Given the description of an element on the screen output the (x, y) to click on. 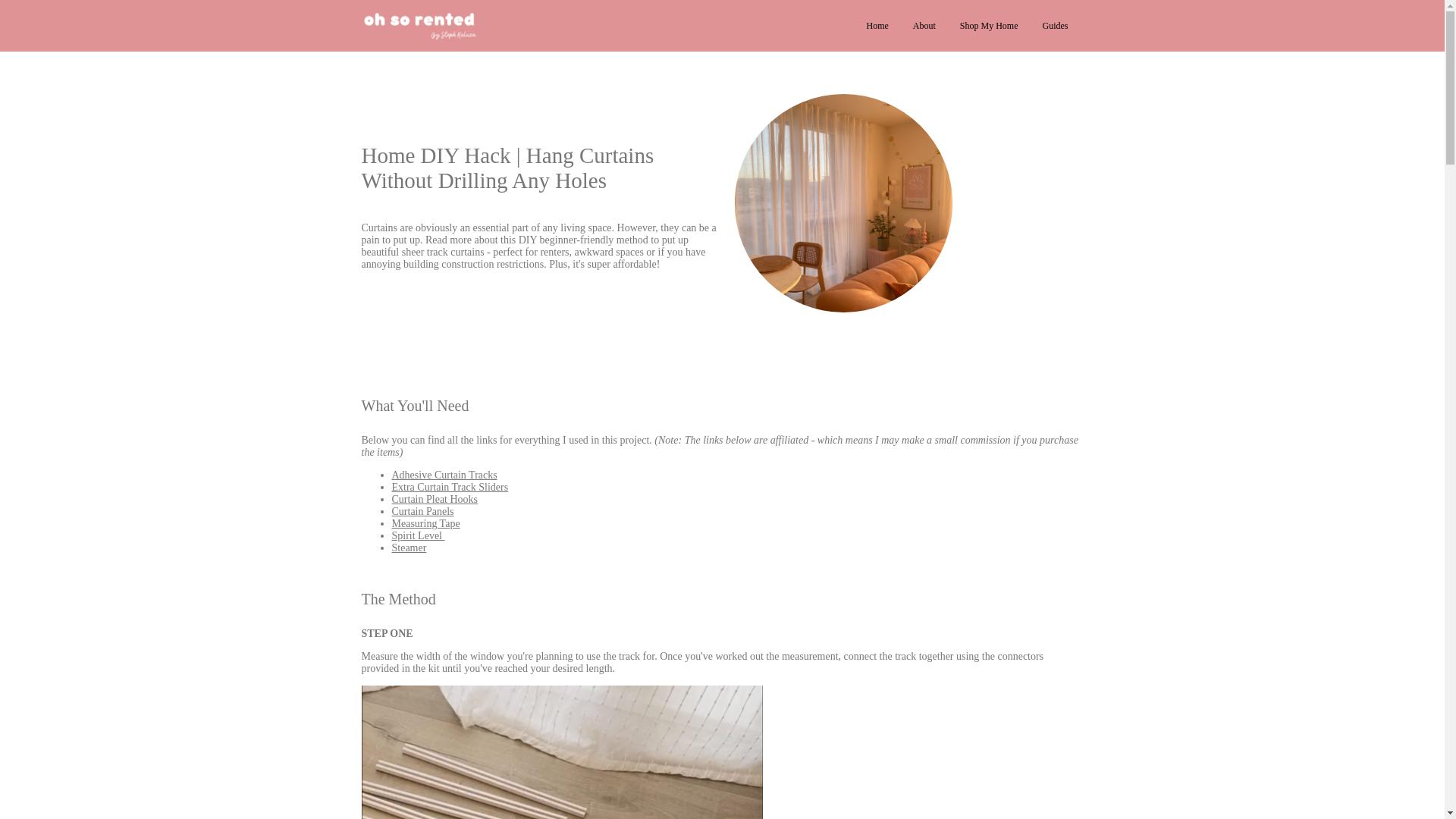
Adhesive Curtain Tracks (443, 474)
About (924, 25)
Guides (1054, 25)
Shop My Home (989, 25)
Extra Curtain Track Sliders (449, 487)
Steamer (408, 547)
Curtain Pleat Hooks (434, 499)
Home (877, 25)
Curtain Panels (421, 511)
Measuring Tape (425, 523)
